Given the description of an element on the screen output the (x, y) to click on. 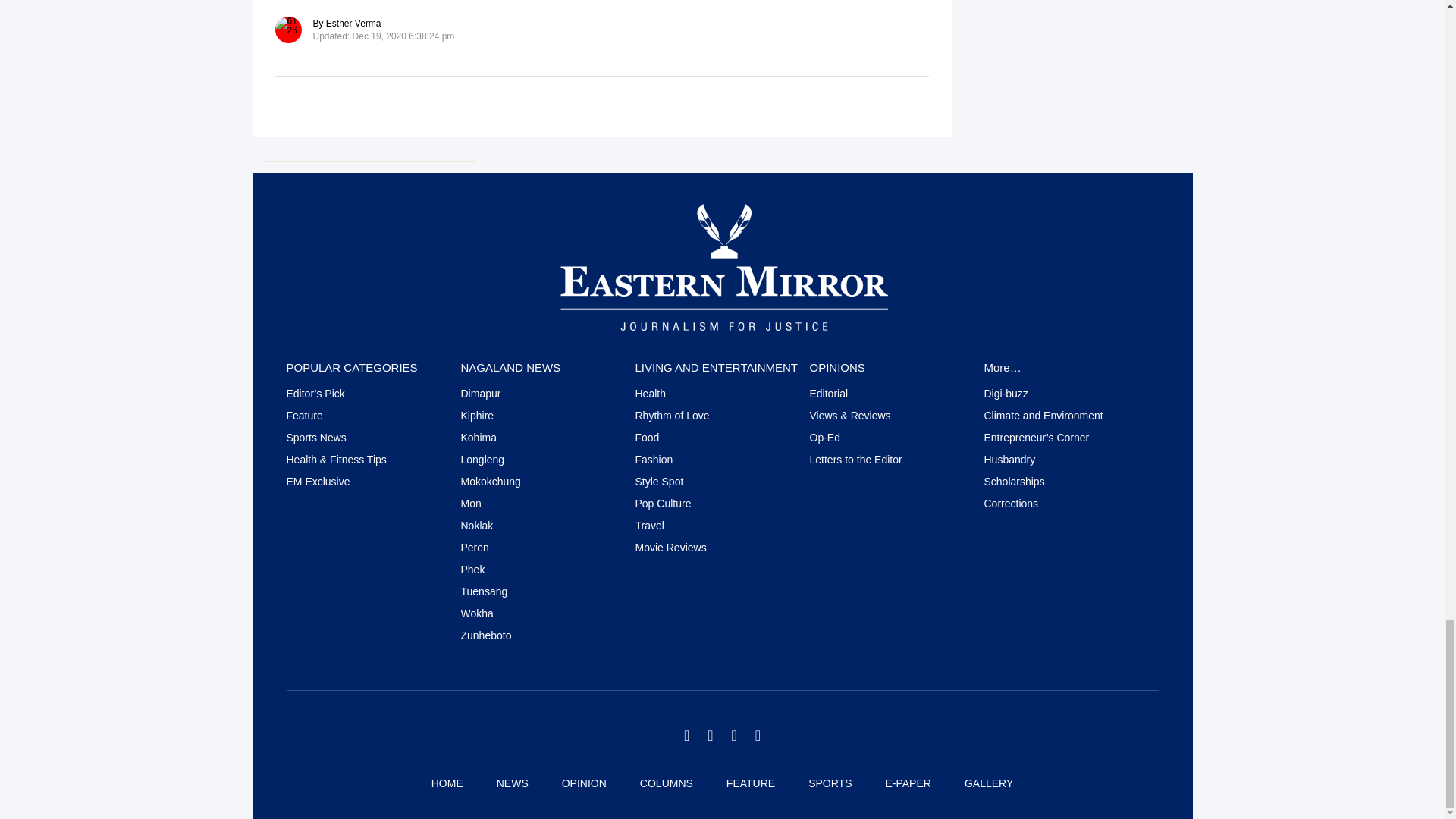
Eastern Mirror (721, 265)
